Given the description of an element on the screen output the (x, y) to click on. 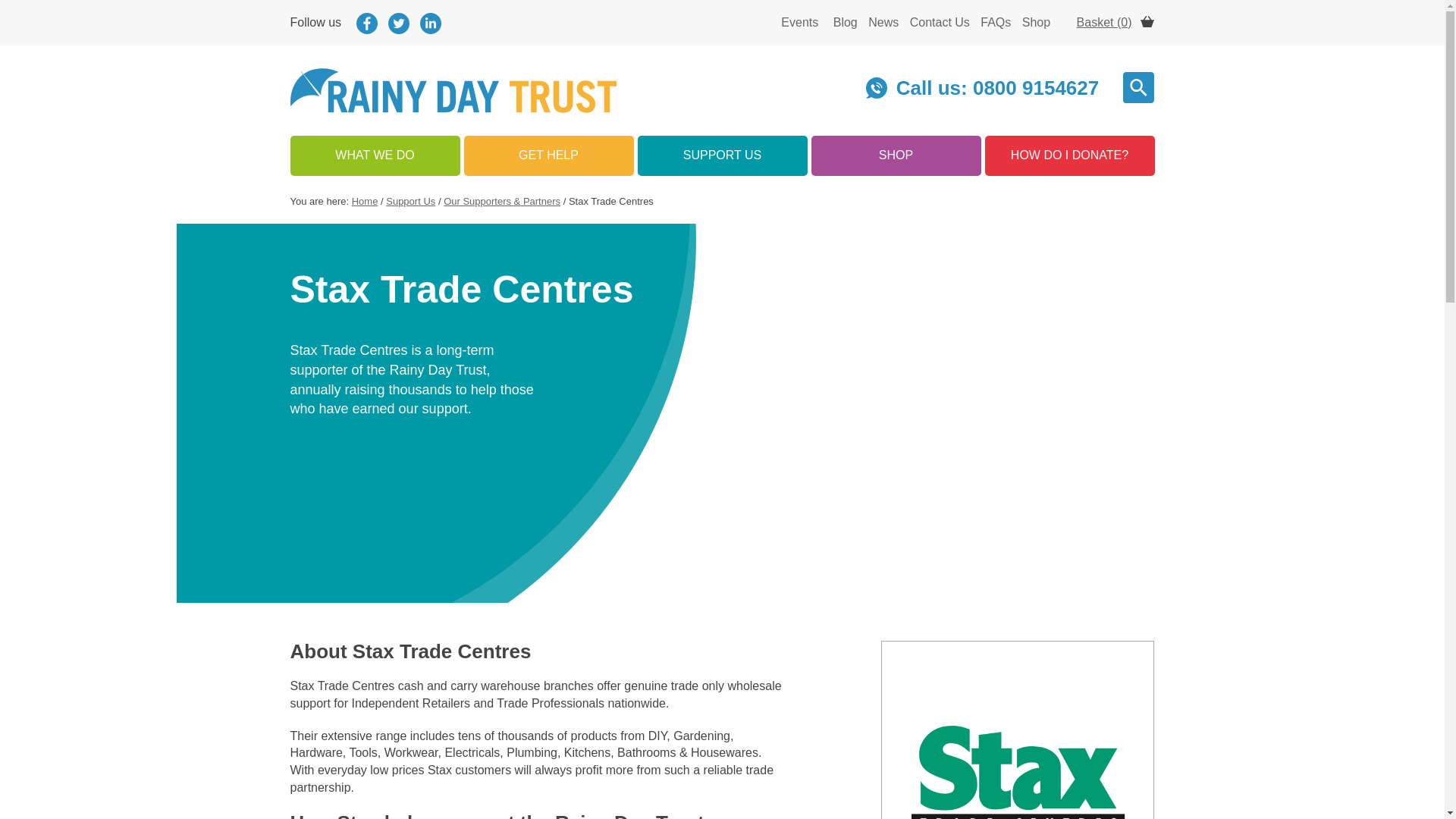
News (882, 21)
View your shopping cart (1115, 21)
Events (799, 21)
Blog (844, 21)
